Given the description of an element on the screen output the (x, y) to click on. 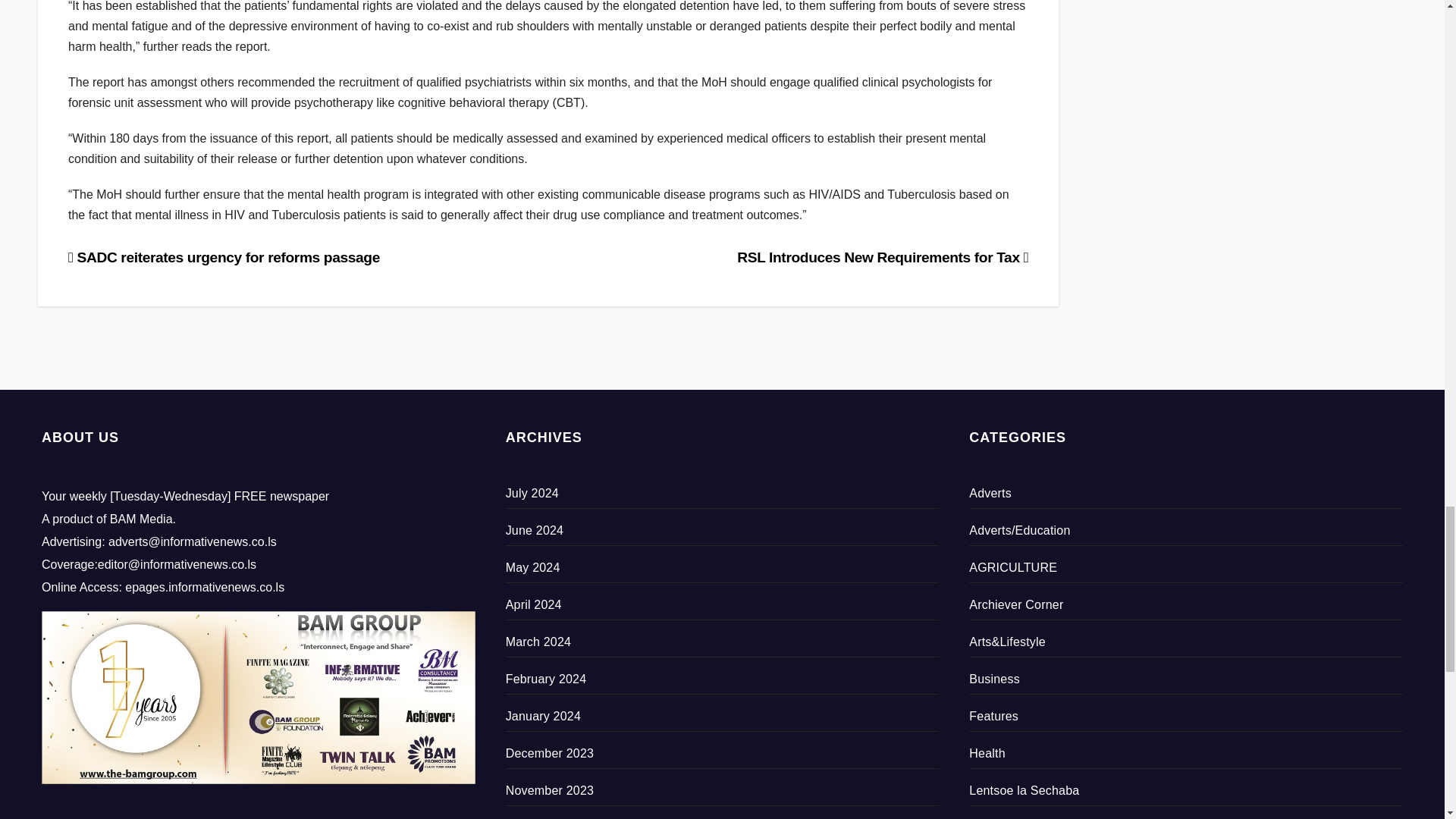
SADC reiterates urgency for reforms passage (224, 257)
June 2024 (534, 530)
April 2024 (533, 604)
July 2024 (532, 492)
May 2024 (532, 567)
March 2024 (538, 641)
RSL Introduces New Requirements for Tax (881, 257)
